Given the description of an element on the screen output the (x, y) to click on. 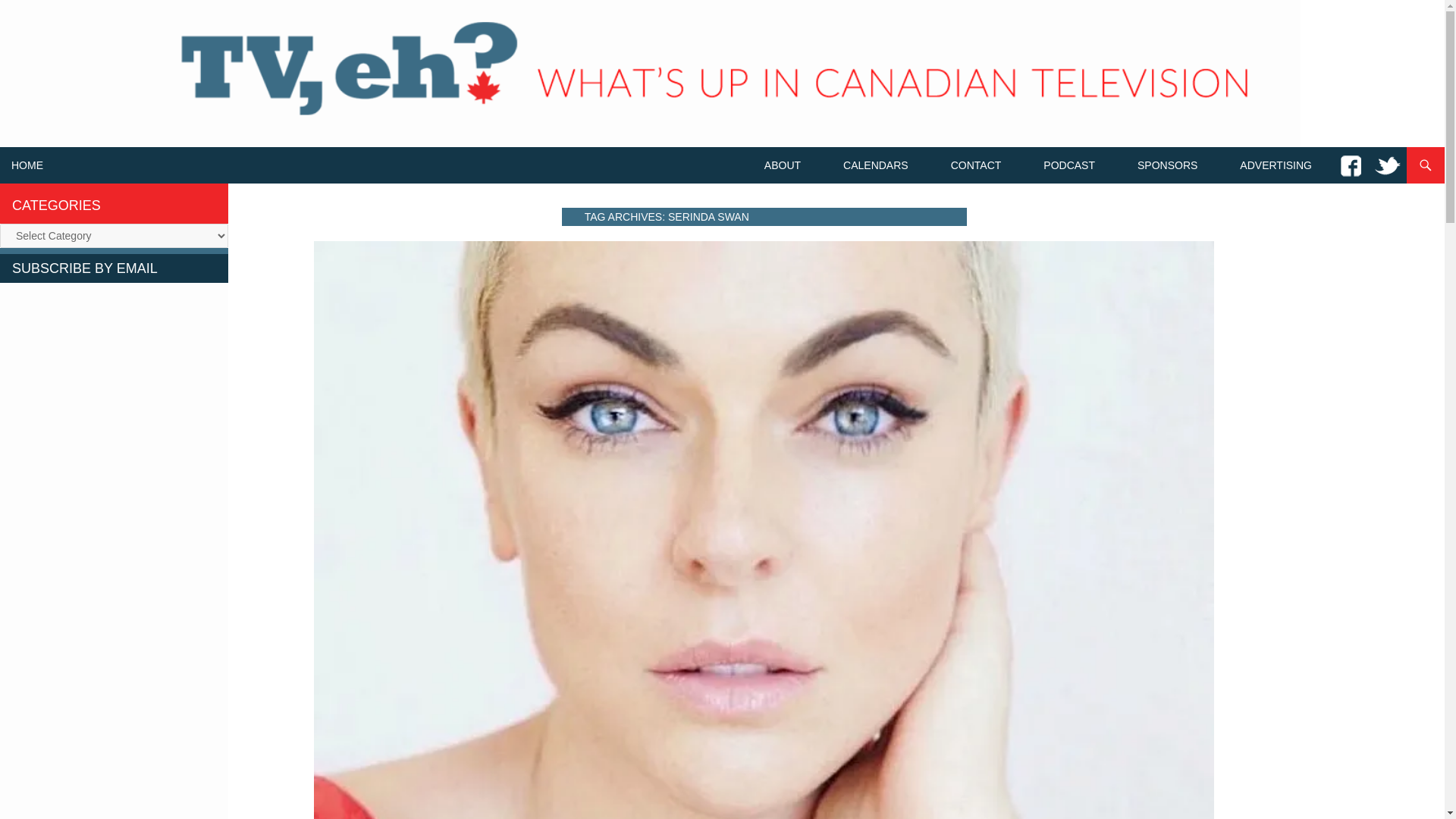
ABOUT (782, 165)
PODCAST (1068, 165)
CONTACT (976, 165)
SPONSORS (1167, 165)
ADVERTISING (1275, 165)
CALENDARS (875, 165)
HOME (27, 165)
